Given the description of an element on the screen output the (x, y) to click on. 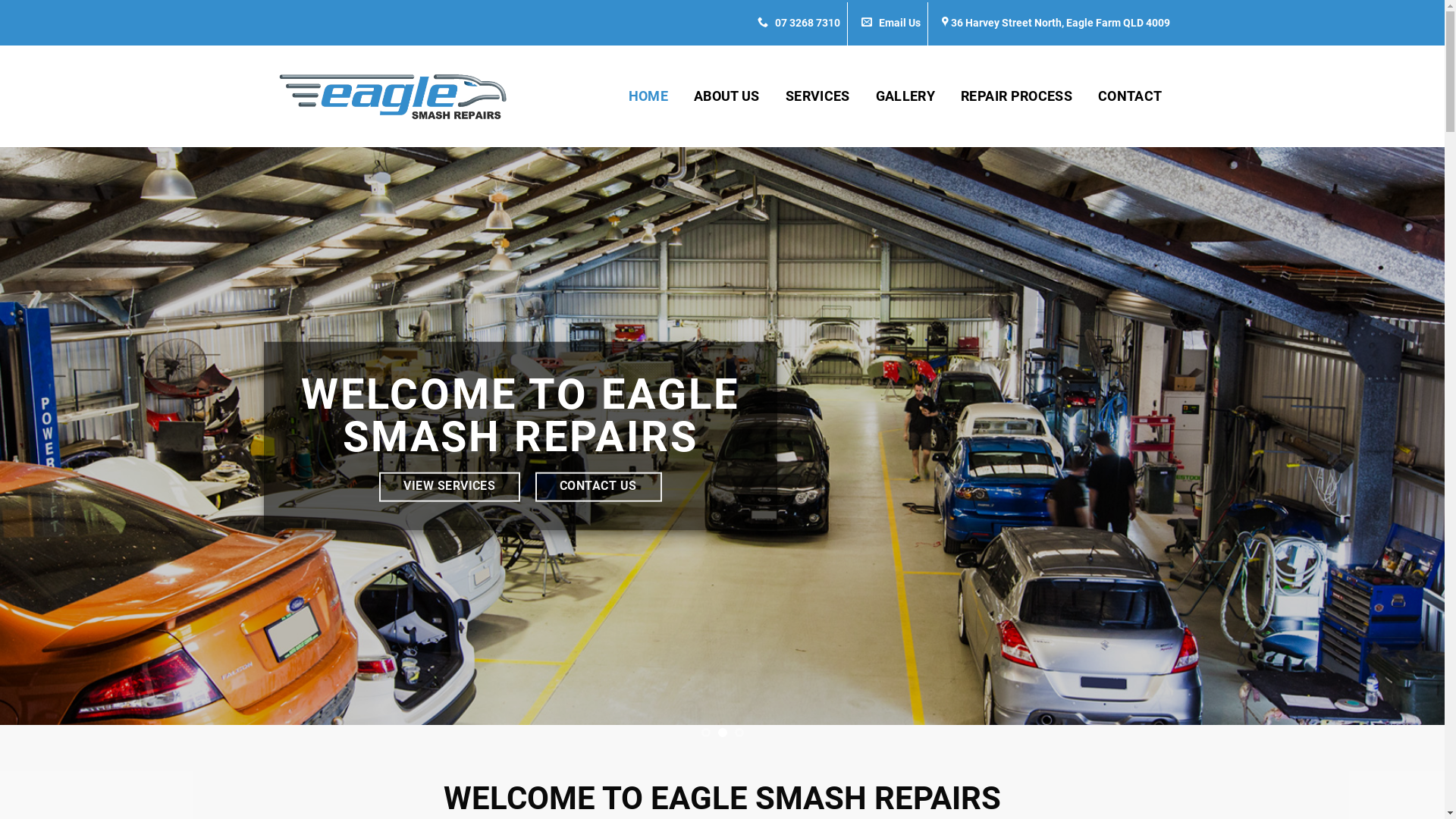
CONTACT US Element type: text (598, 487)
ABOUT US Element type: text (726, 95)
07 3268 7310 Element type: text (797, 22)
CONTACT Element type: text (1129, 95)
REPAIR PROCESS Element type: text (1016, 95)
SERVICES Element type: text (817, 95)
36 Harvey Street North, Eagle Farm QLD 4009 Element type: text (1060, 22)
GALLERY Element type: text (905, 95)
Eagle Smash Repairs  Element type: hover (391, 95)
HOME Element type: text (648, 95)
Email Us Element type: text (890, 22)
VIEW SERVICES Element type: text (449, 487)
